Given the description of an element on the screen output the (x, y) to click on. 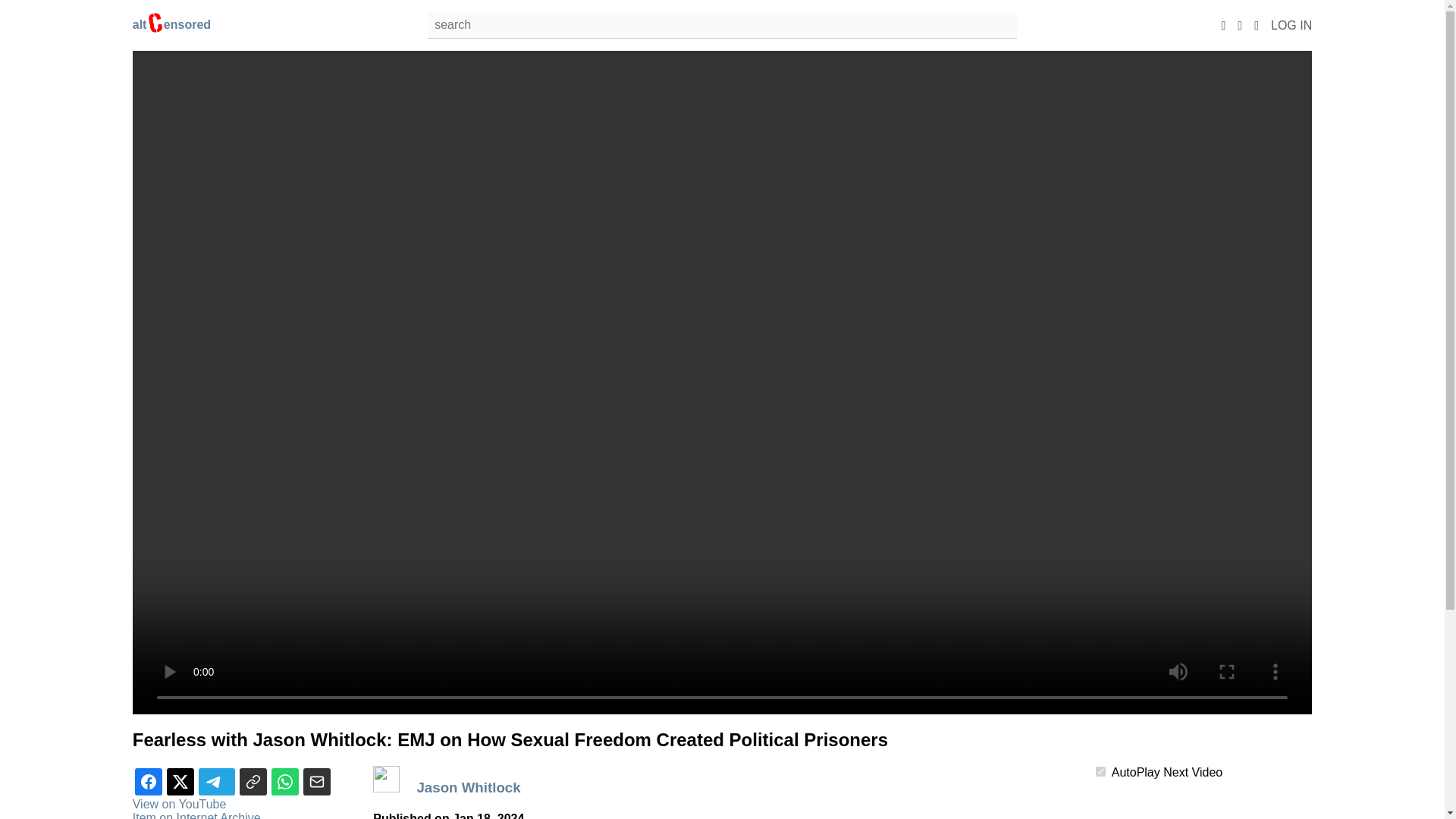
Item on Internet Archive (196, 815)
alt ensored (171, 24)
LOG IN (1291, 24)
View on YouTube (179, 803)
Jason Whitlock (470, 787)
True (1100, 771)
